Given the description of an element on the screen output the (x, y) to click on. 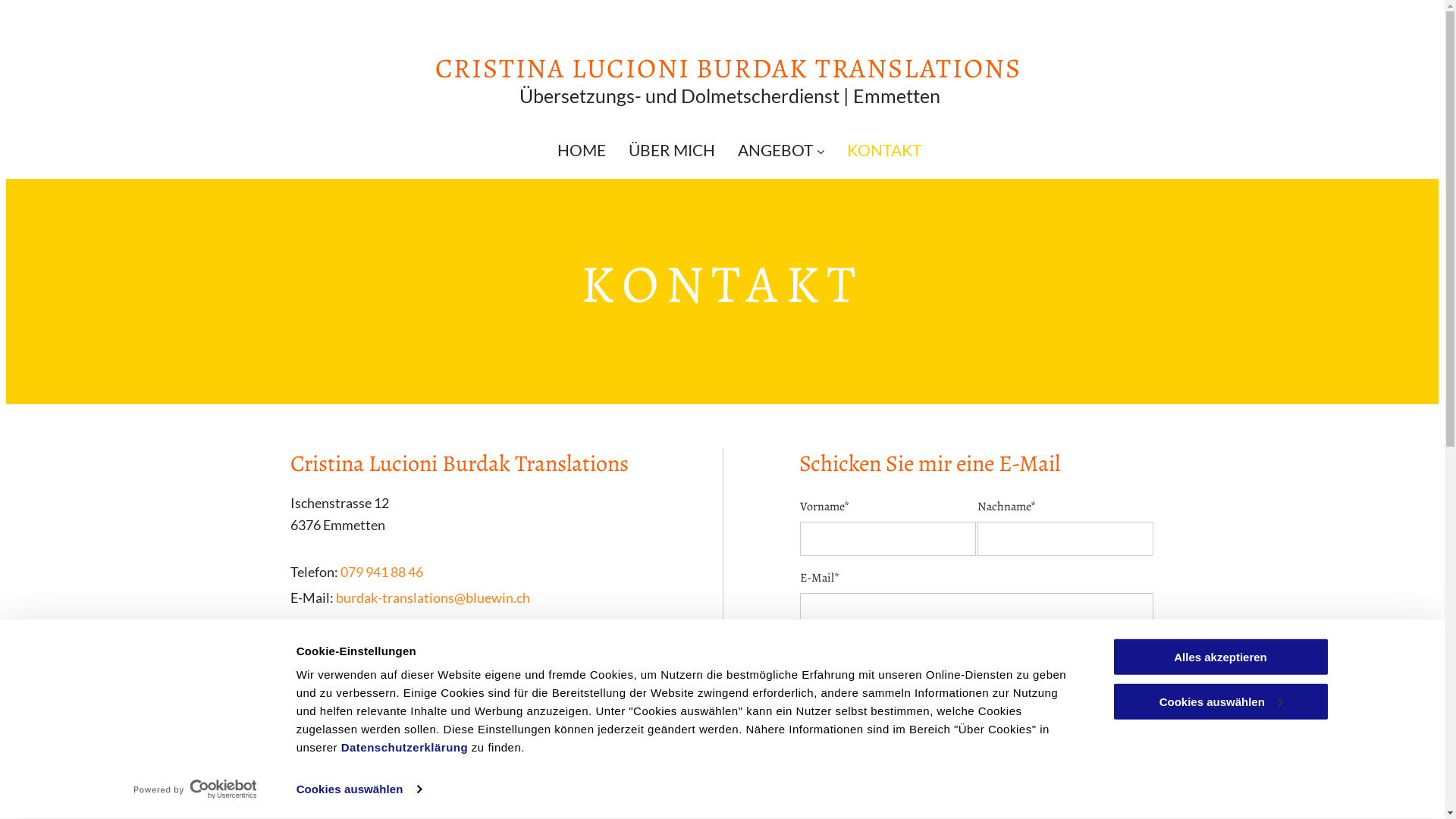
HOME Element type: text (581, 149)
burdak-translations@bluewin.ch Element type: text (432, 597)
ANGEBOT Element type: text (780, 149)
CRISTINA LUCIONI BURDAK TRANSLATIONS Element type: text (728, 67)
Alles akzeptieren Element type: text (1219, 656)
079 941 88 46 Element type: text (380, 571)
KONTAKT Element type: text (883, 149)
